Given the description of an element on the screen output the (x, y) to click on. 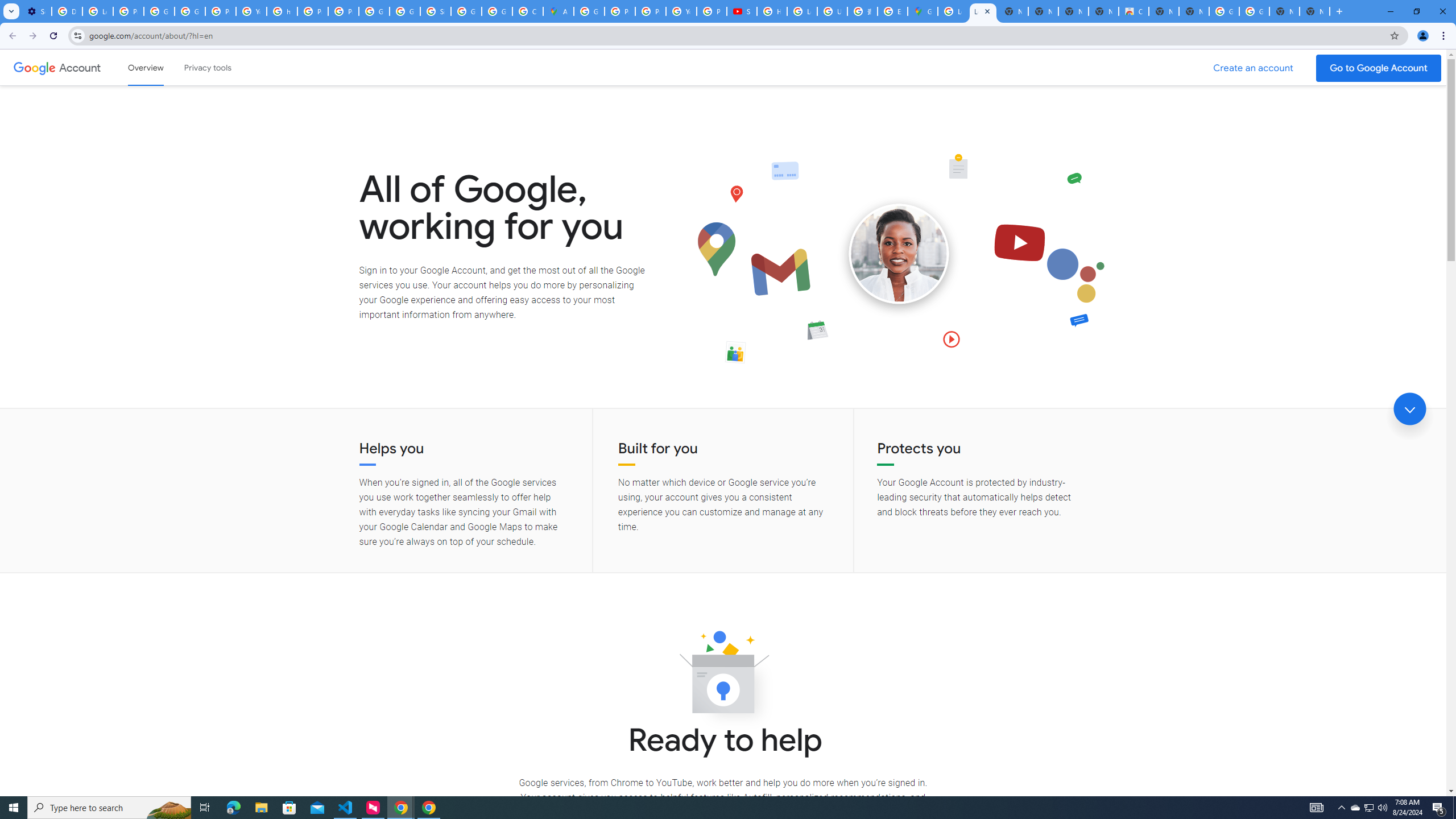
New Tab (1314, 11)
Jump link (1409, 408)
How Chrome protects your passwords - Google Chrome Help (771, 11)
Google Images (1224, 11)
YouTube (681, 11)
Google Account Help (158, 11)
YouTube (251, 11)
Skip to Content (162, 65)
Google logo (34, 67)
